Given the description of an element on the screen output the (x, y) to click on. 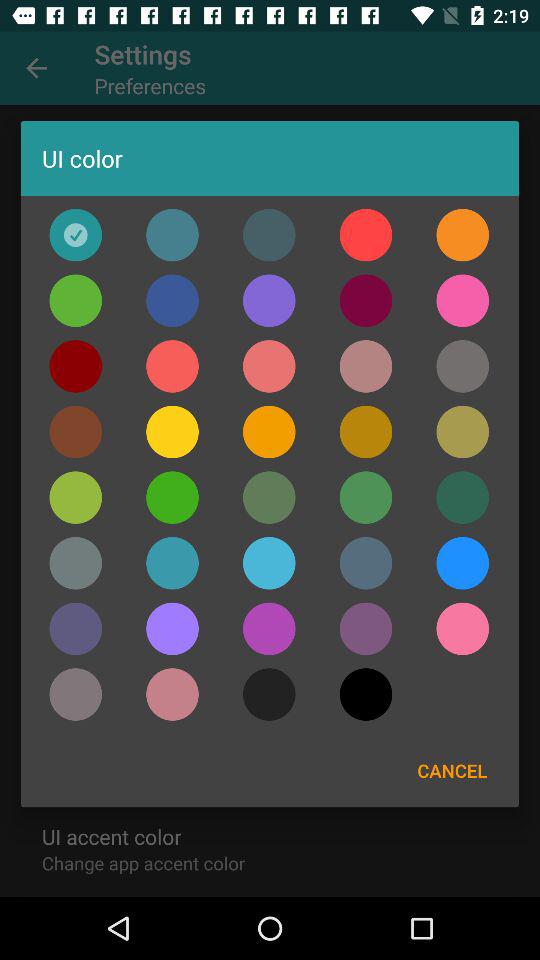
pick color (462, 366)
